Given the description of an element on the screen output the (x, y) to click on. 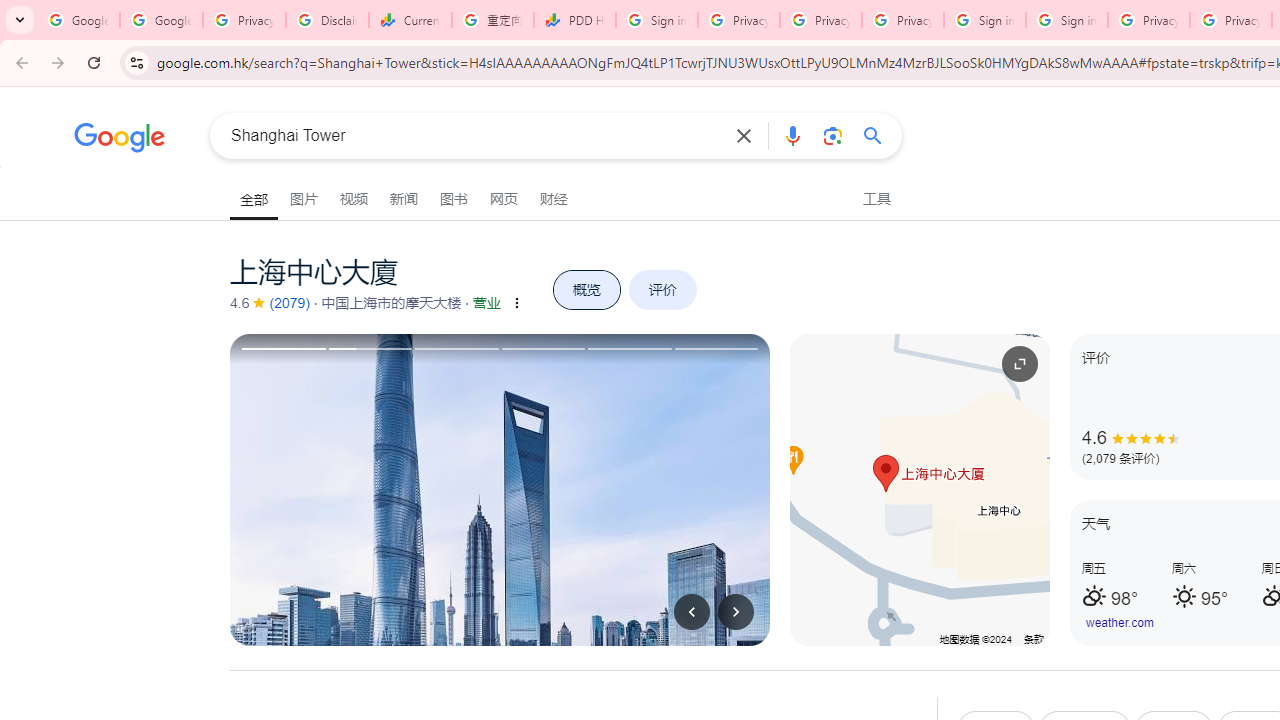
Sign in - Google Accounts (984, 20)
weather.com (1119, 623)
Privacy Checkup (820, 20)
View site information (136, 62)
Privacy Checkup (902, 20)
Sign in - Google Accounts (1067, 20)
